Given the description of an element on the screen output the (x, y) to click on. 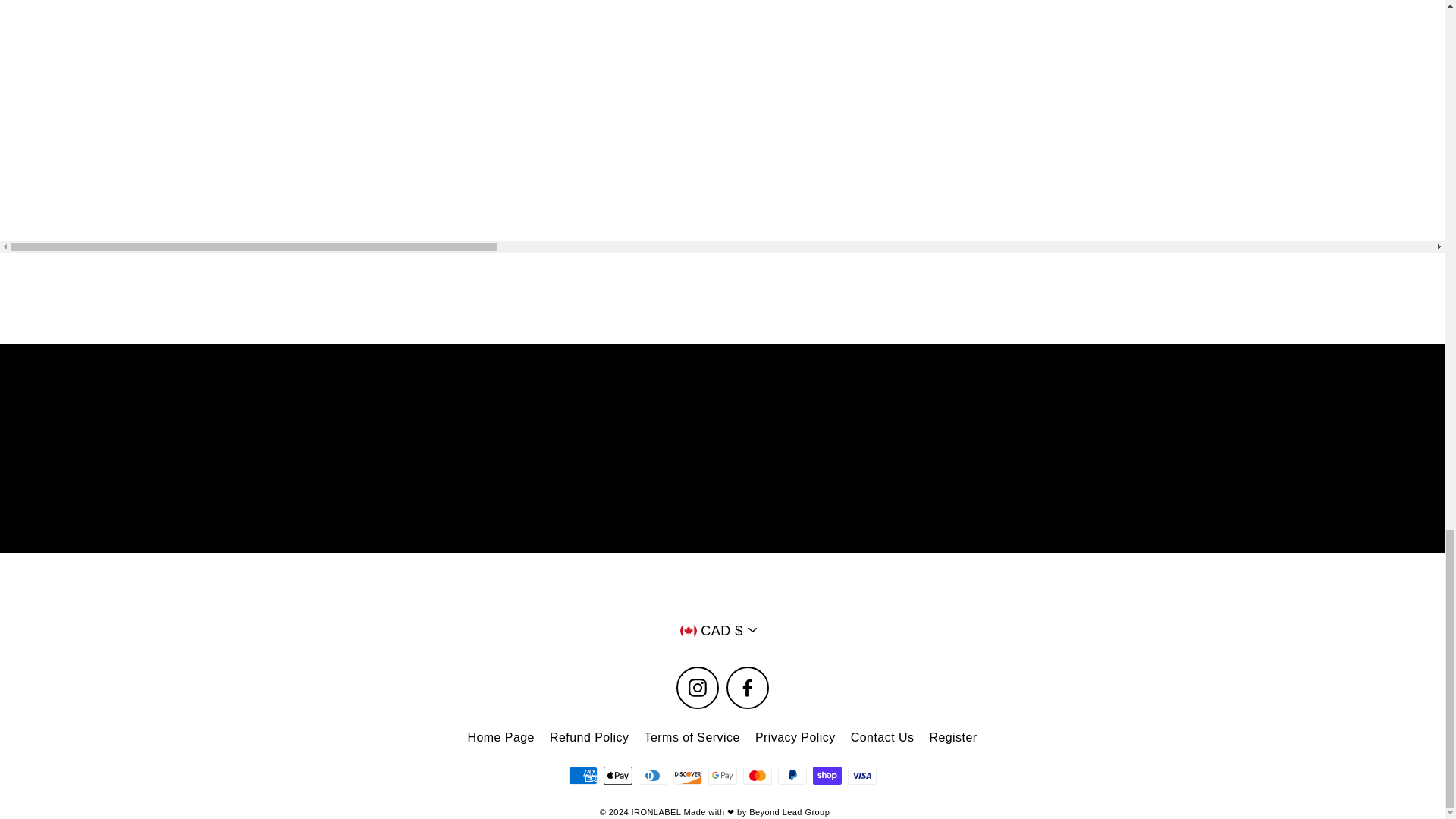
Apple Pay (617, 775)
Google Pay (721, 775)
PayPal (791, 775)
Visa (861, 775)
Discover (686, 775)
American Express (582, 775)
IRONLABEL on Facebook (747, 687)
IRONLABEL on Instagram (698, 687)
Diners Club (652, 775)
Mastercard (756, 775)
